Given the description of an element on the screen output the (x, y) to click on. 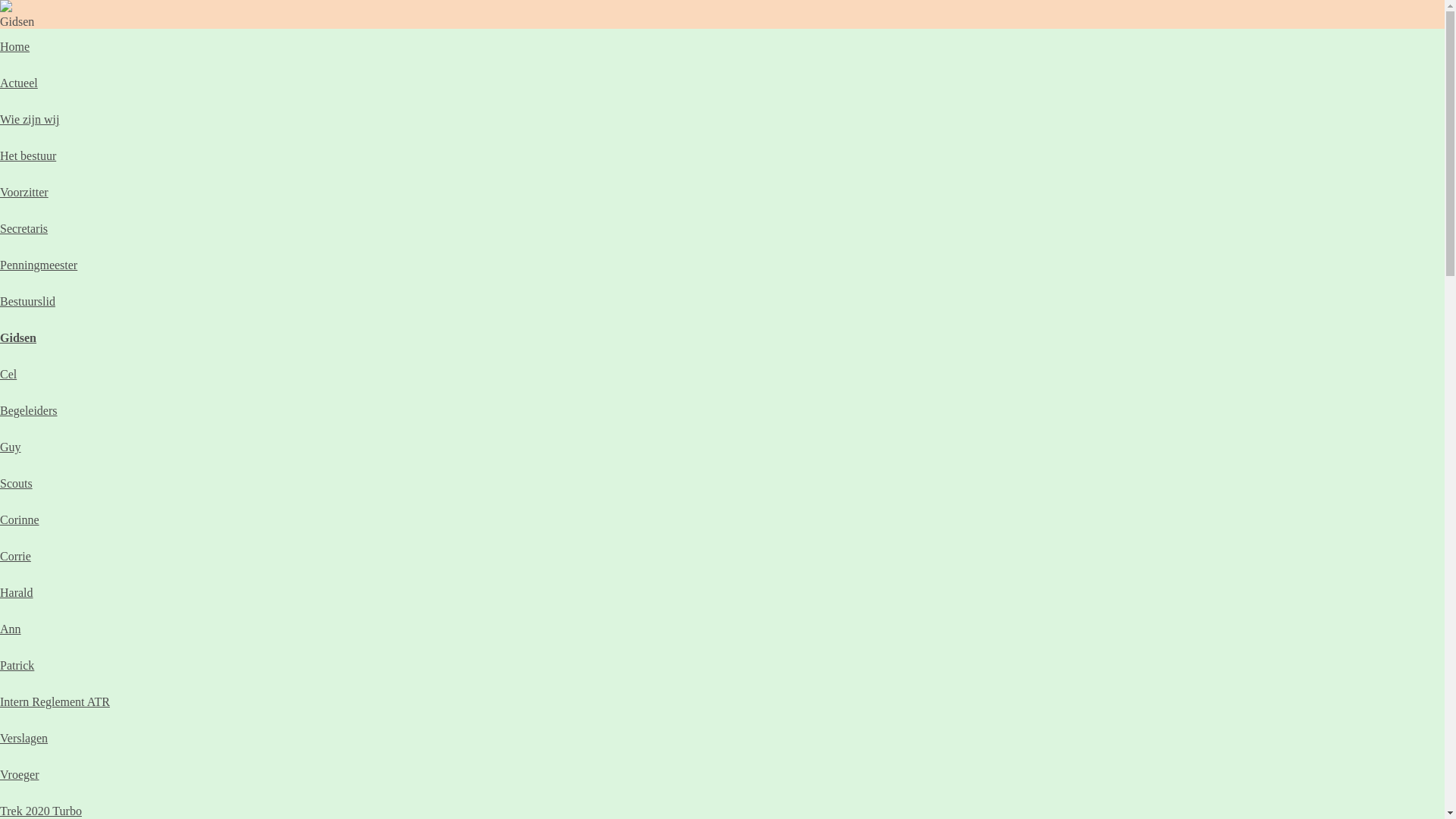
Verslagen Element type: text (23, 737)
Wie zijn wij Element type: text (29, 118)
Gidsen Element type: text (18, 337)
Vroeger Element type: text (19, 774)
Scouts Element type: text (16, 482)
Begeleiders Element type: text (28, 410)
Voorzitter Element type: text (24, 191)
Cel Element type: text (8, 373)
Het bestuur Element type: text (28, 155)
Actueel Element type: text (18, 82)
Corinne Element type: text (19, 519)
Patrick Element type: text (17, 664)
Secretaris Element type: text (23, 228)
Intern Reglement ATR Element type: text (54, 701)
Guy Element type: text (10, 446)
Corrie Element type: text (15, 555)
Harald Element type: text (16, 592)
Bestuurslid Element type: text (27, 300)
Home Element type: text (14, 46)
Ann Element type: text (10, 628)
Penningmeester Element type: text (38, 264)
Trek 2020 Turbo Element type: text (40, 810)
